Given the description of an element on the screen output the (x, y) to click on. 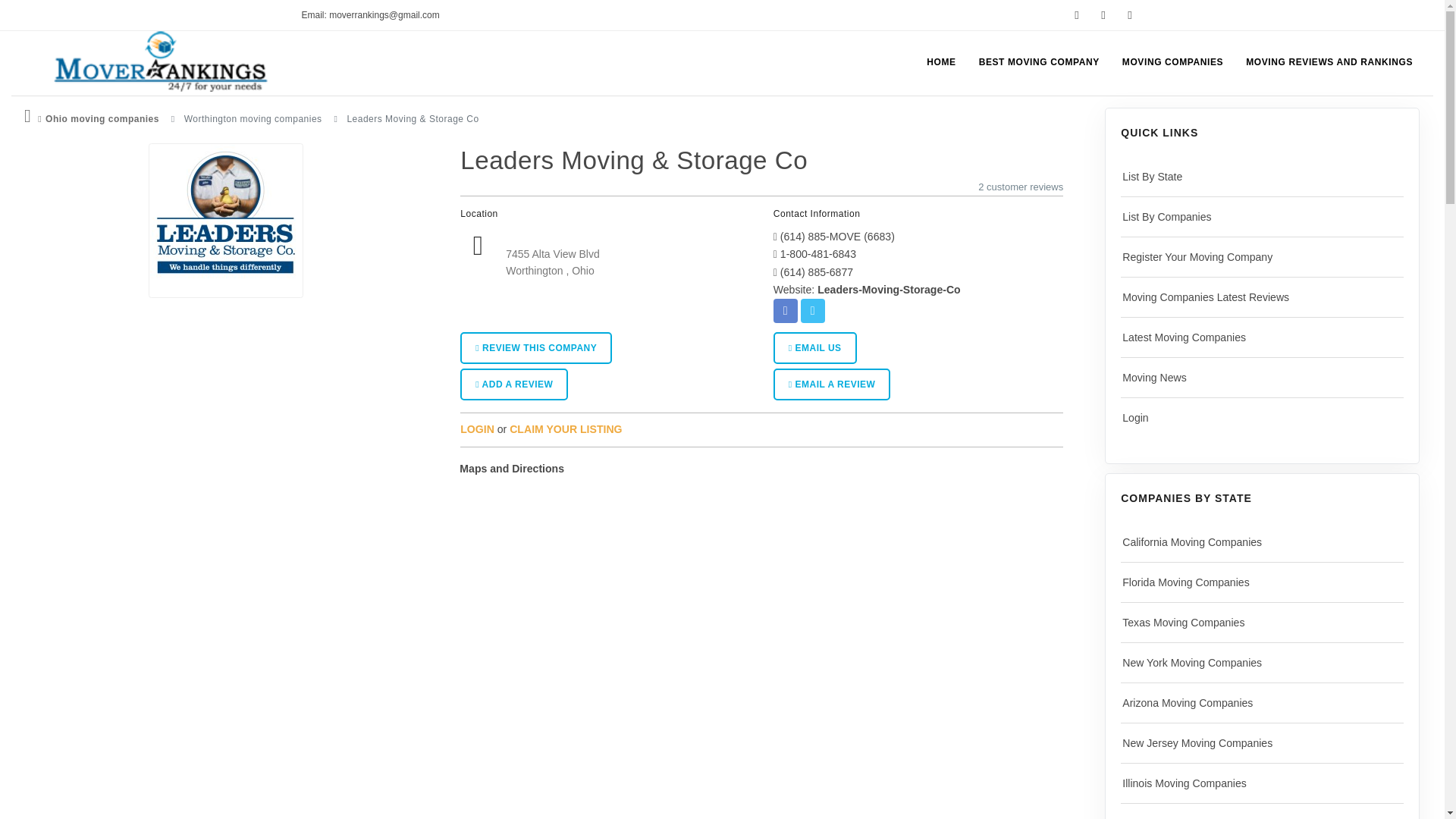
BEST MOVING COMPANY (1038, 62)
MOVING COMPANIES (1172, 62)
MOVING REVIEWS AND RANKINGS (1329, 62)
HOME (940, 62)
